Given the description of an element on the screen output the (x, y) to click on. 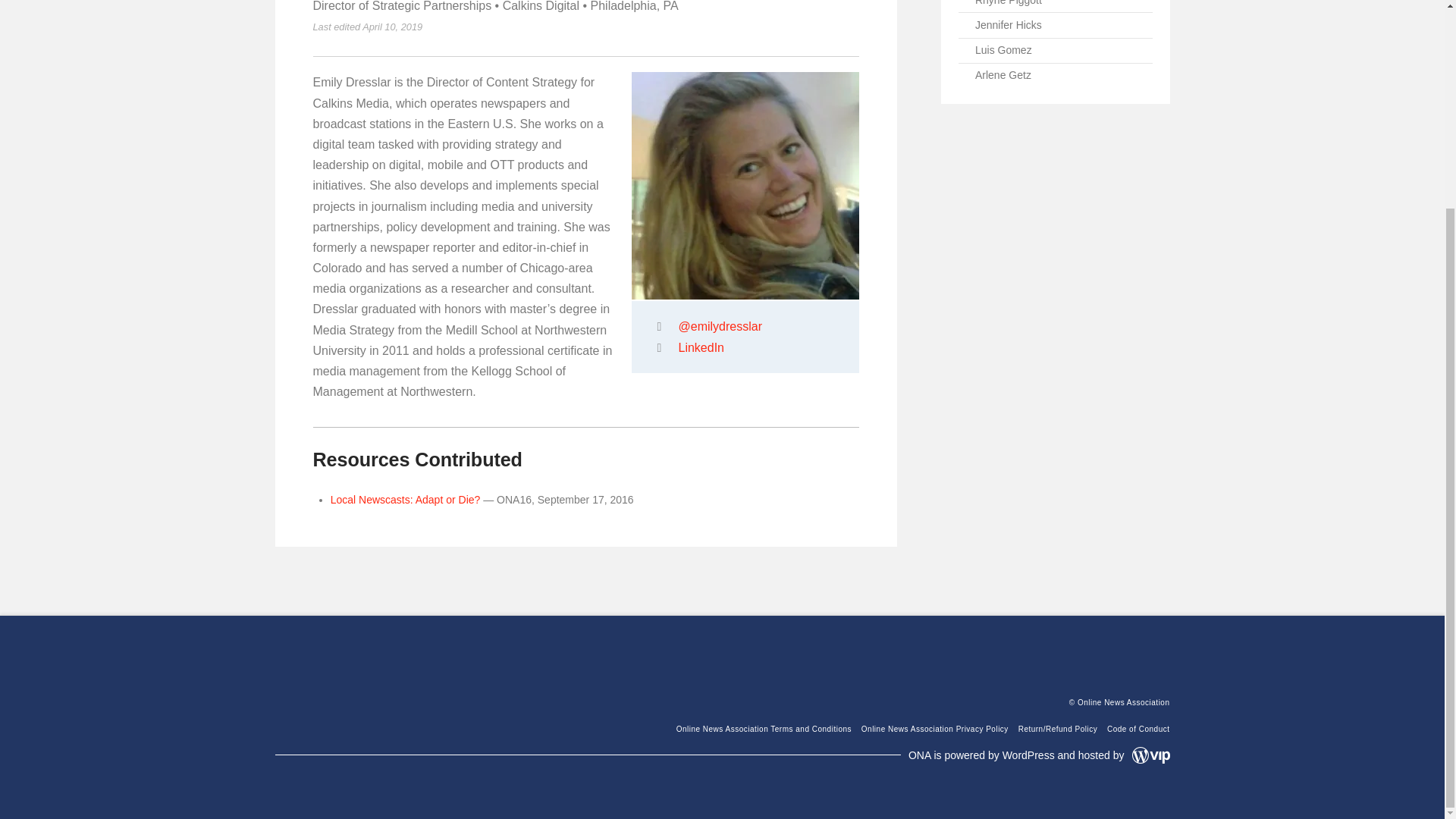
Luis Gomez (1055, 50)
Arlene Getz (1055, 75)
Local Newscasts: Adapt or Die? (405, 499)
LinkedIn (700, 347)
Online News Association Privacy Policy (935, 728)
Rhyne Piggott (1055, 6)
Code of Conduct (1138, 728)
Online News Association Terms and Conditions (764, 728)
Jennifer Hicks (1055, 25)
